Given the description of an element on the screen output the (x, y) to click on. 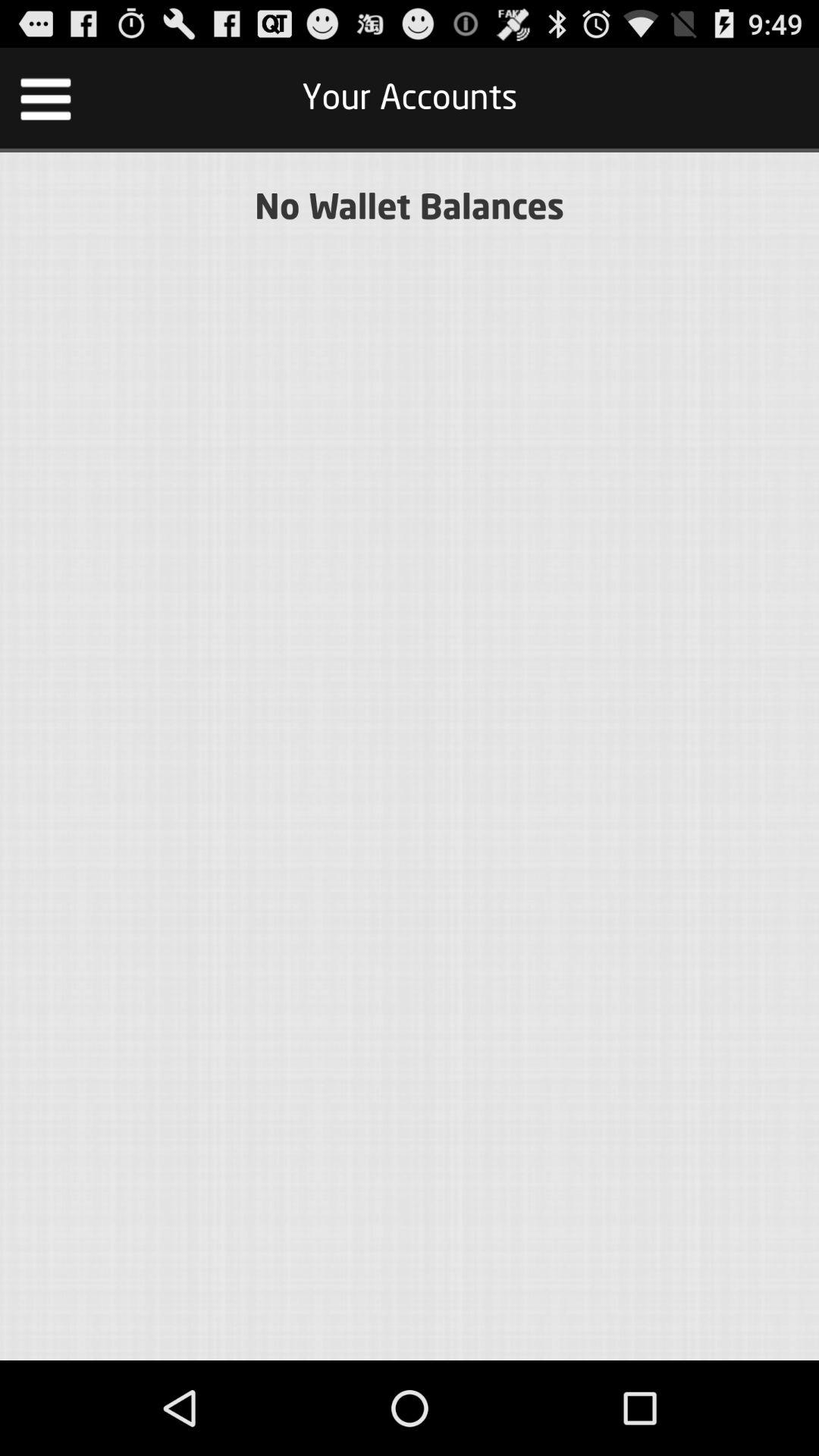
choose item at the top left corner (45, 97)
